Given the description of an element on the screen output the (x, y) to click on. 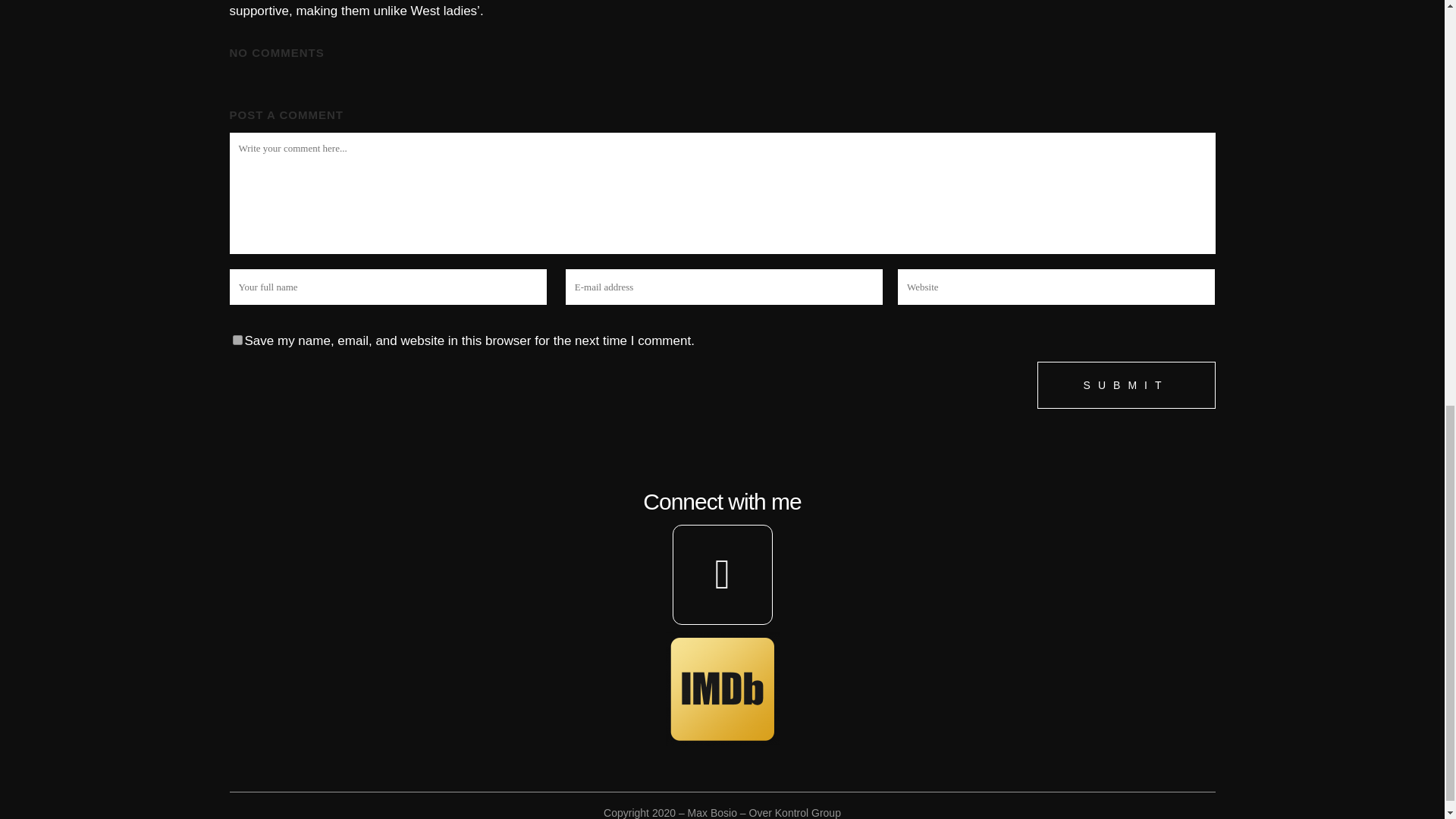
Submit (1125, 384)
Over Kontrol Group (795, 812)
Submit (1125, 384)
yes (236, 339)
